Given the description of an element on the screen output the (x, y) to click on. 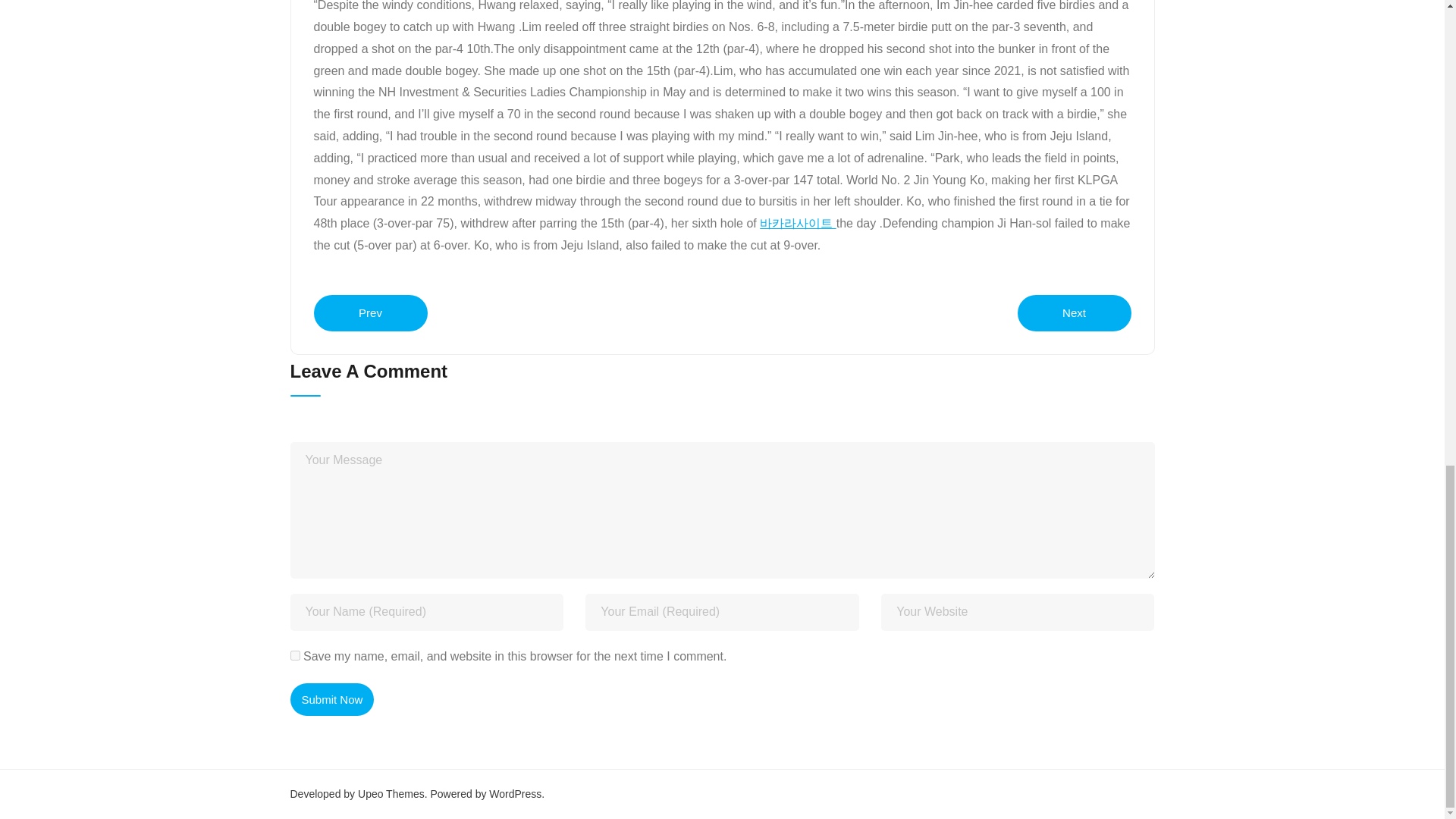
WordPress (515, 793)
Submit Now (331, 699)
Submit Now (331, 699)
yes (294, 655)
Next (1074, 312)
Upeo Themes (391, 793)
Prev (371, 312)
